Given the description of an element on the screen output the (x, y) to click on. 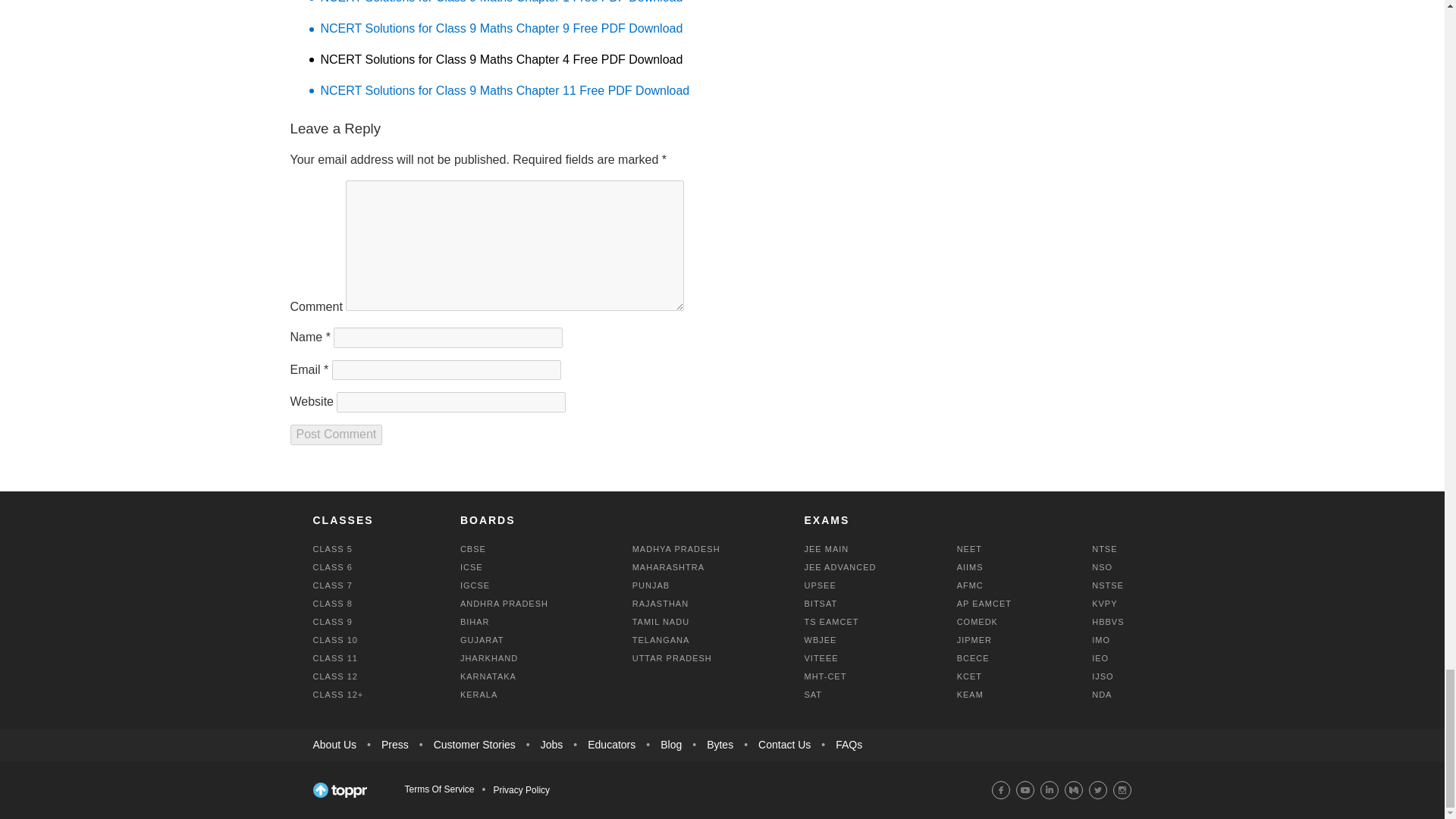
Class 6 (332, 566)
Post Comment (335, 435)
Class 5 (332, 548)
Class 7 (332, 584)
